Given the description of an element on the screen output the (x, y) to click on. 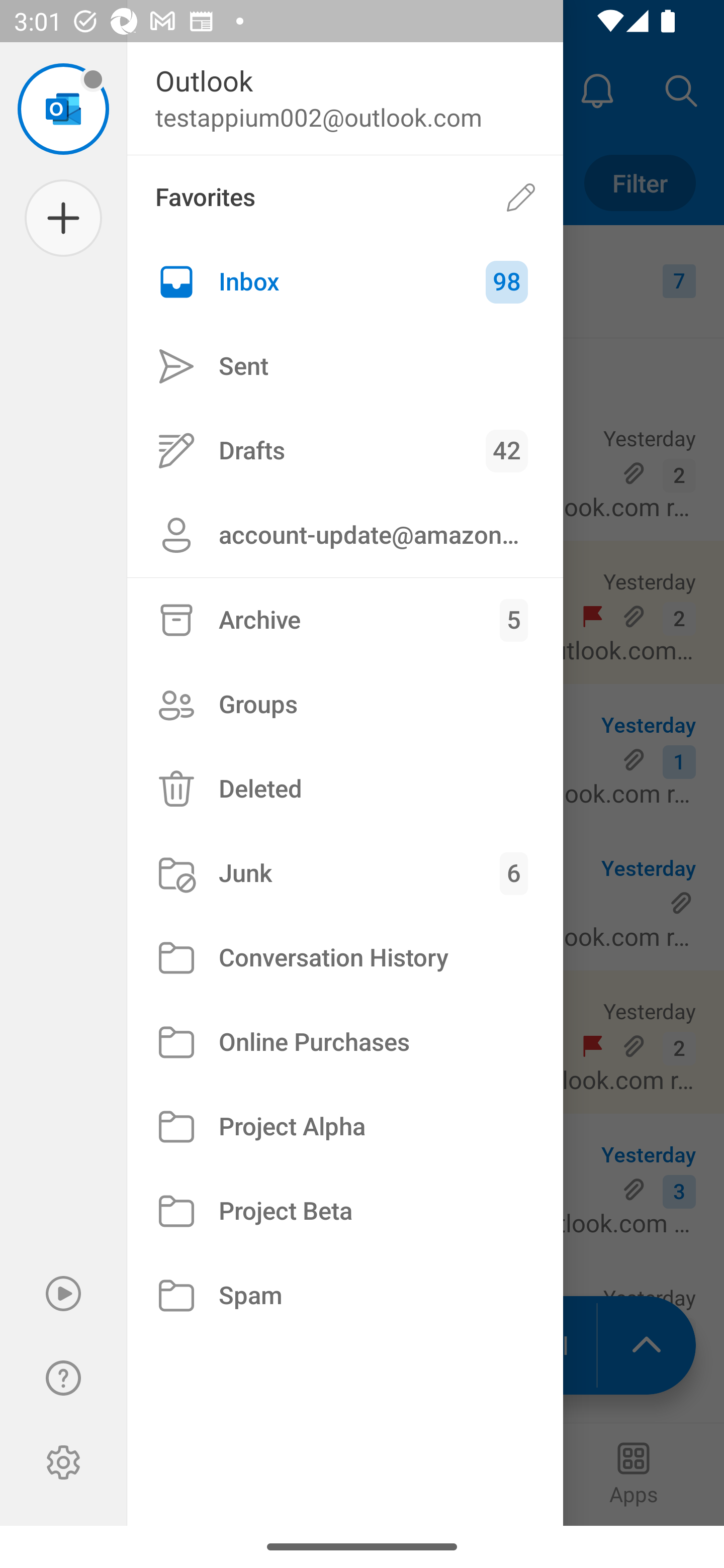
Edit favorites (520, 197)
Add account (63, 217)
Inbox Inbox, 98 unread emails,Selected (345, 281)
Sent (345, 366)
Drafts Drafts, 42 unread emails (345, 450)
account-update@amazon.com (345, 534)
Archive Archive, 2 of 10, level 1, 5 unread emails (345, 619)
Groups Groups, 3 of 10, level 1 (345, 703)
Deleted Deleted, 4 of 10, level 1 (345, 788)
Junk Junk, 5 of 10, level 1, 6 unread emails (345, 873)
Project Alpha Project Alpha, 8 of 10, level 1 (345, 1127)
Project Beta Project Beta, 9 of 10, level 1 (345, 1210)
Play My Emails (62, 1293)
Spam Spam, 10 of 10, level 1 (345, 1294)
Help (62, 1377)
Settings (62, 1462)
